Given the description of an element on the screen output the (x, y) to click on. 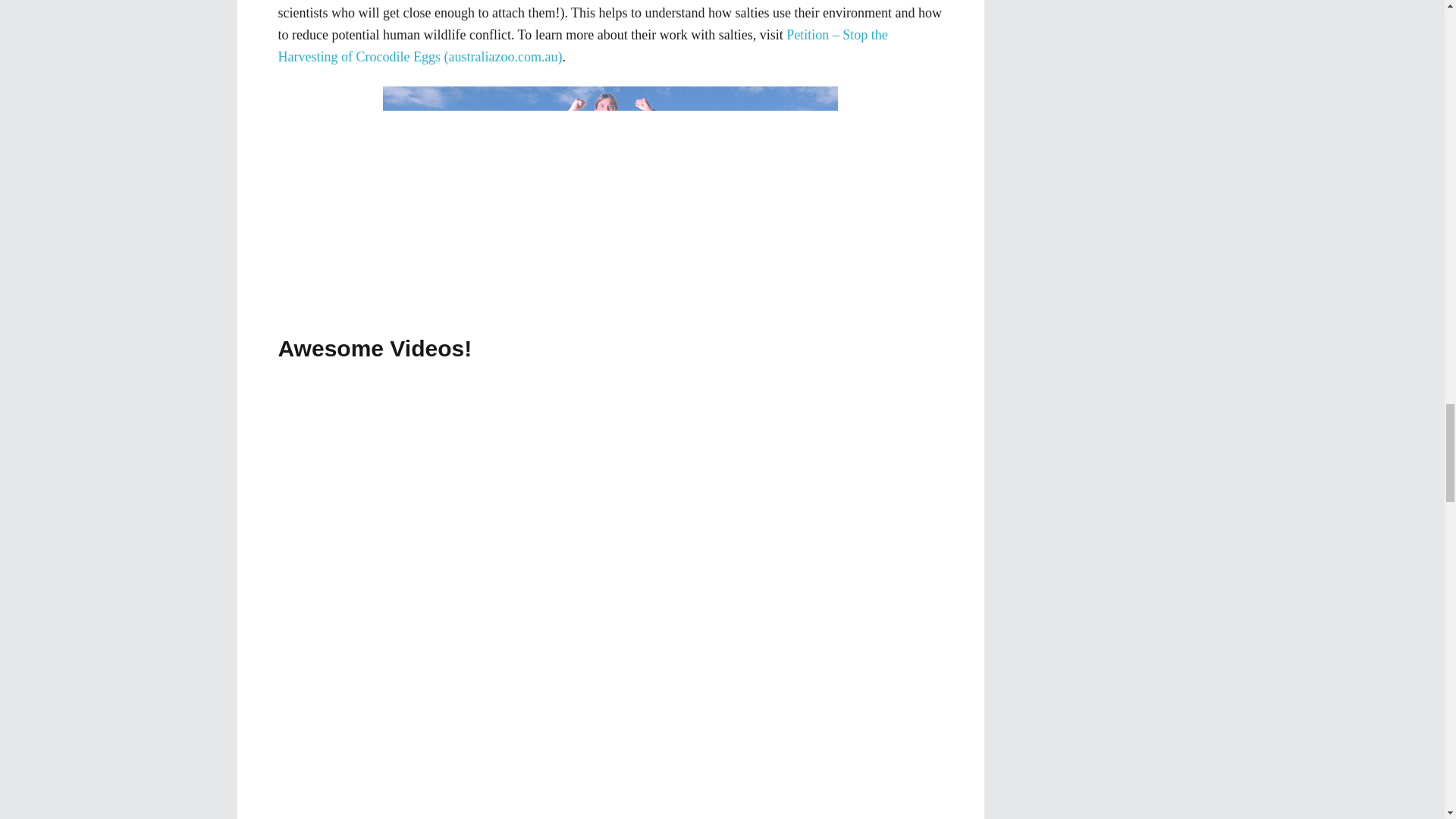
YouTube video player (633, 811)
